Given the description of an element on the screen output the (x, y) to click on. 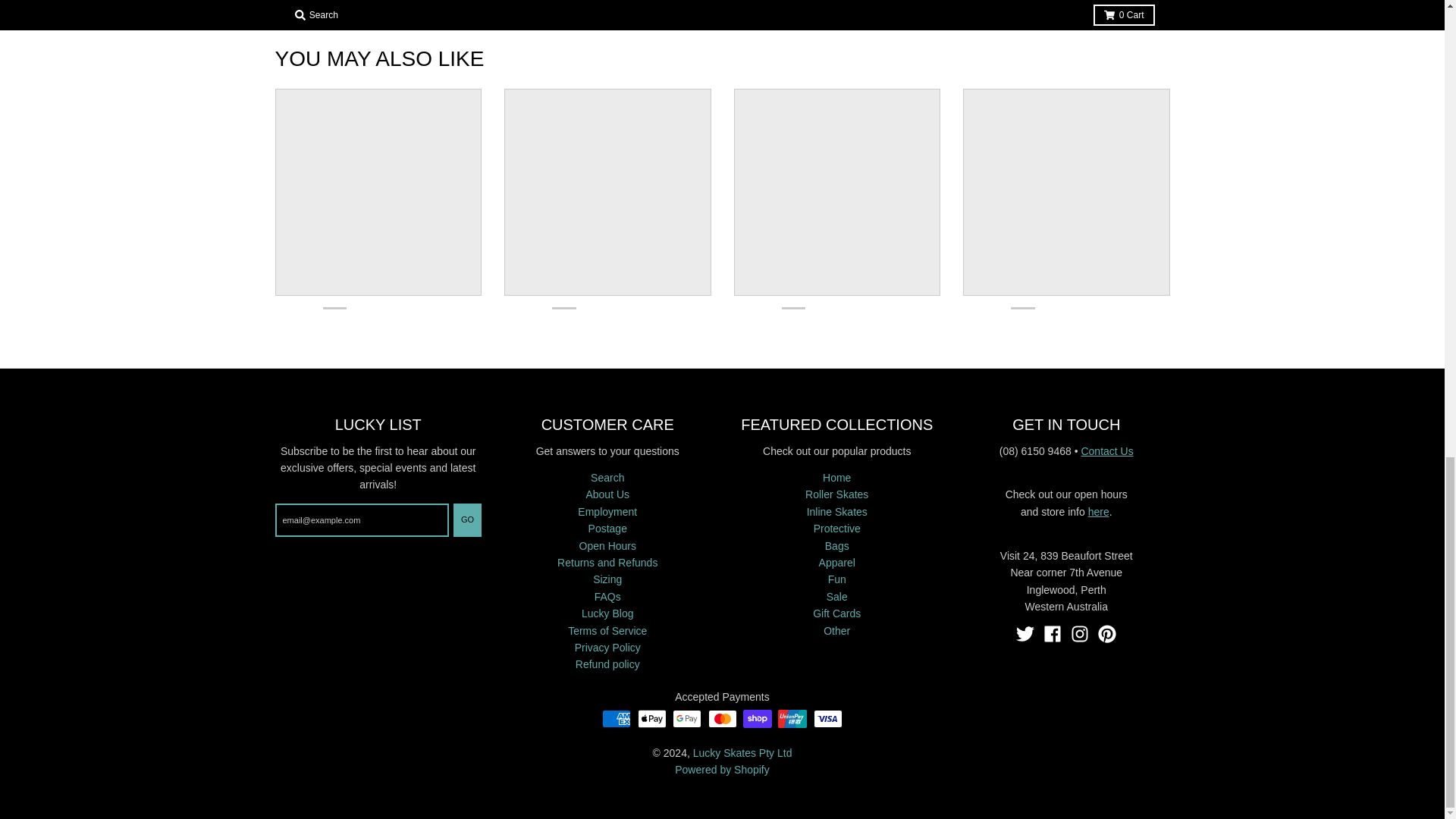
Open Hours (1098, 511)
Twitter - Lucky Skates Pty Ltd (1024, 633)
Facebook - Lucky Skates Pty Ltd (1052, 633)
Instagram - Lucky Skates Pty Ltd (1079, 633)
Pinterest - Lucky Skates Pty Ltd (1106, 633)
